Given the description of an element on the screen output the (x, y) to click on. 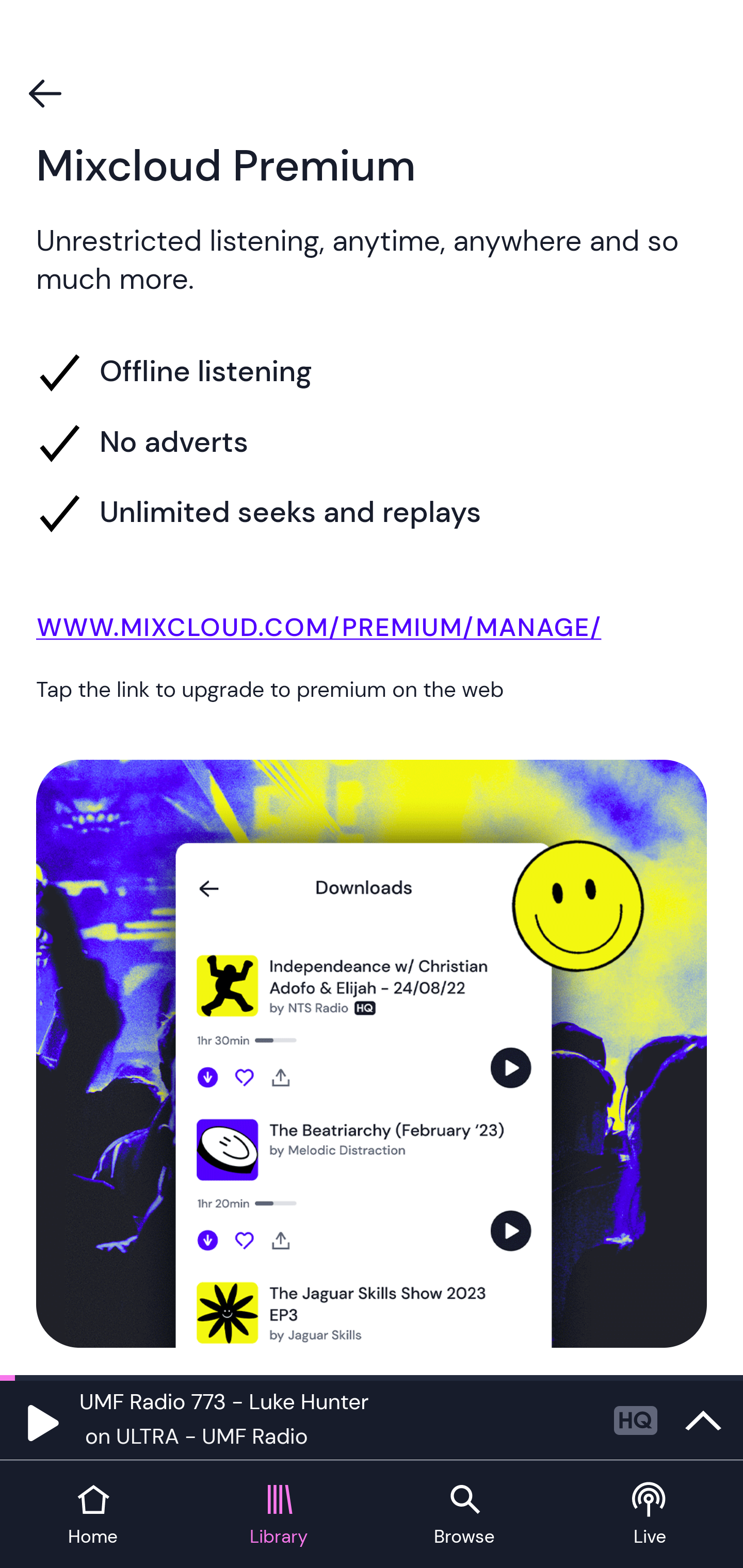
WWW.MIXCLOUD.COM/PREMIUM/MANAGE/ (371, 630)
Home tab Home (92, 1515)
Library tab Library (278, 1515)
Browse tab Browse (464, 1515)
Live tab Live (650, 1515)
